Given the description of an element on the screen output the (x, y) to click on. 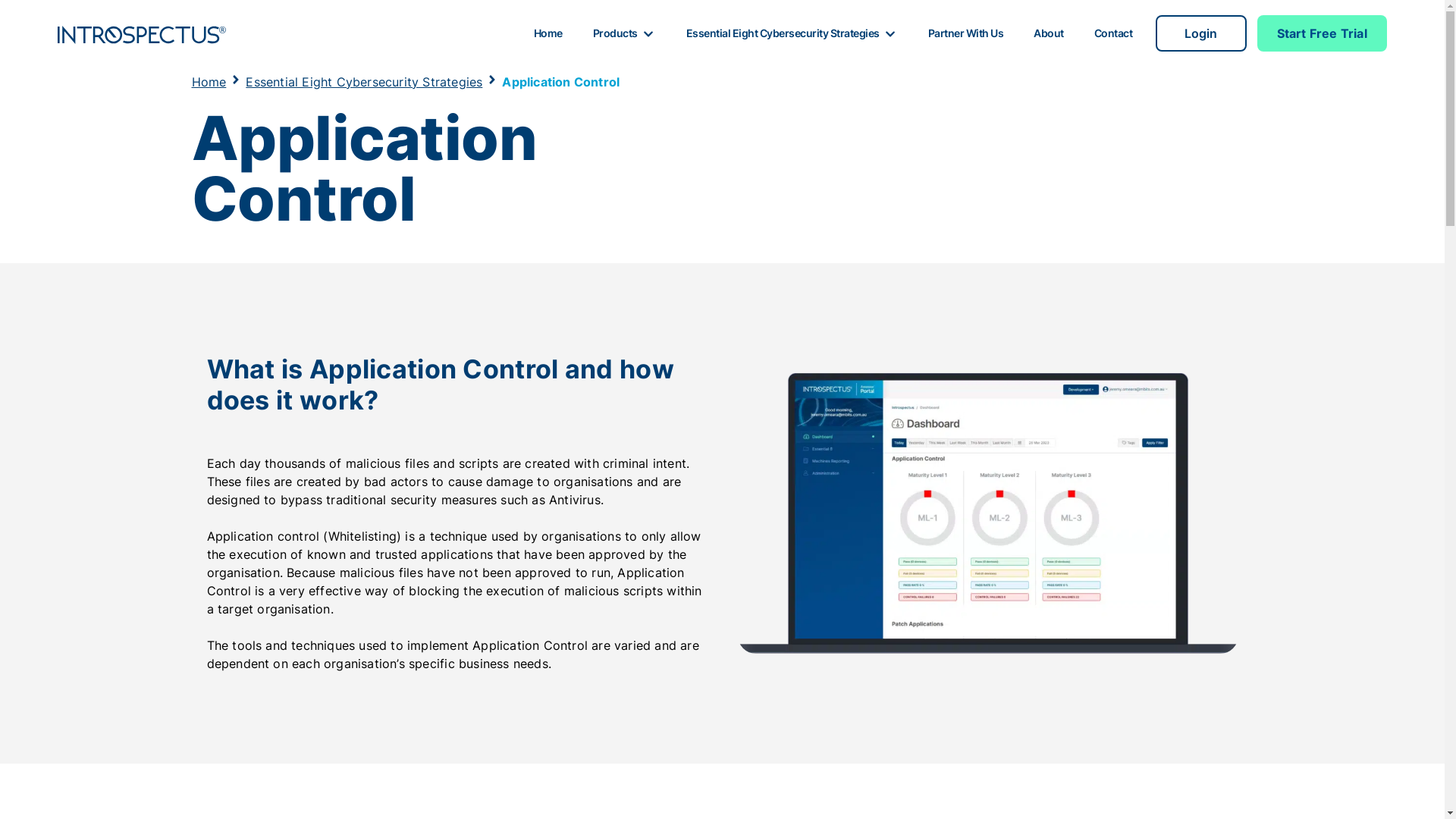
Home Element type: text (547, 32)
Essential Eight Cybersecurity Strategies Element type: text (791, 32)
Home Element type: text (208, 82)
Partner With Us Element type: text (966, 32)
Products Element type: text (624, 32)
Contact Element type: text (1113, 32)
Start Free Trial Element type: text (1321, 33)
Login Element type: text (1200, 33)
About Element type: text (1048, 32)
Essential Eight Cybersecurity Strategies Element type: text (363, 82)
